Given the description of an element on the screen output the (x, y) to click on. 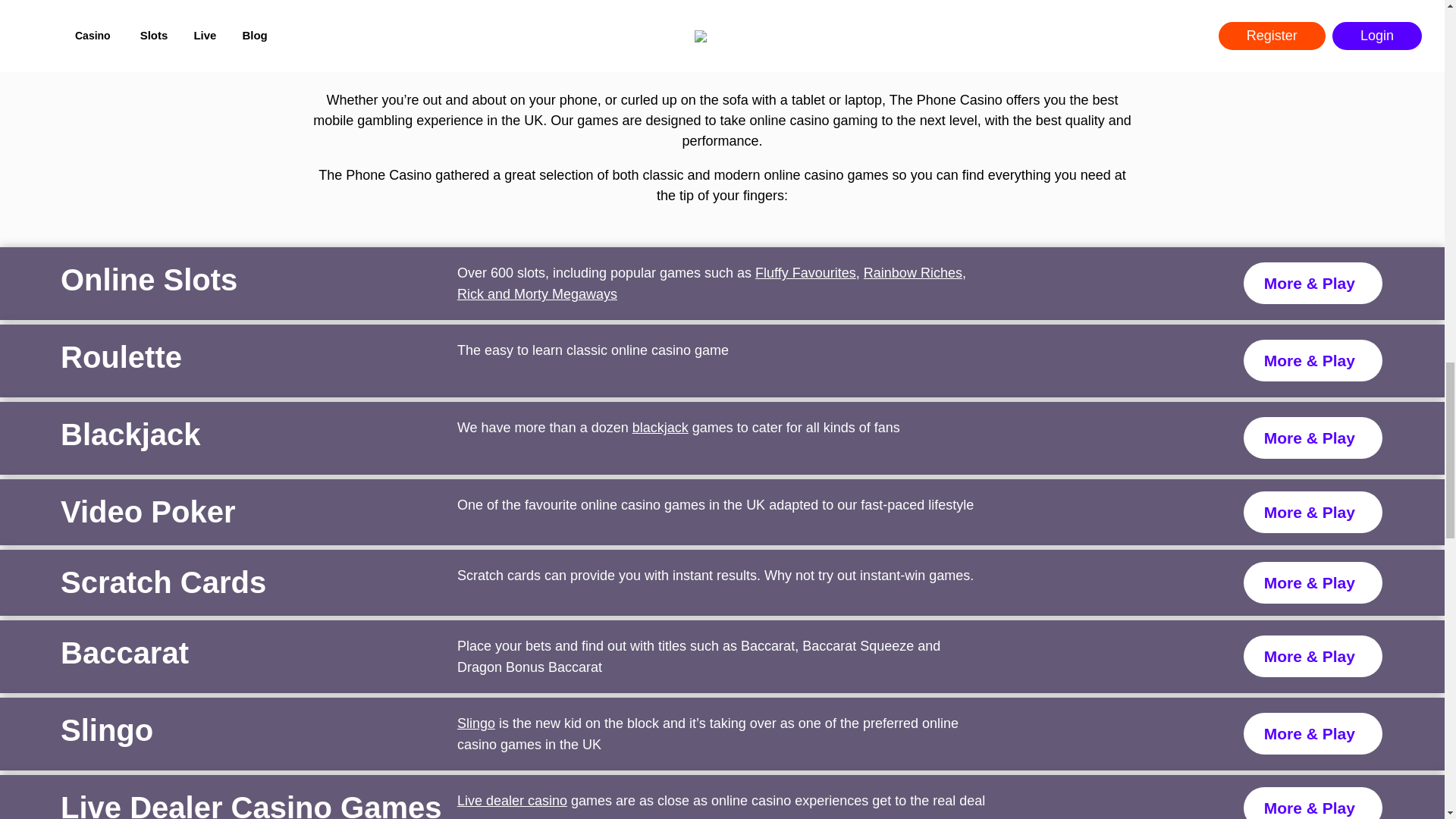
Fluffy Favourites (805, 272)
Rick and Morty Megaways (537, 294)
Rainbow Riches (912, 272)
